Given the description of an element on the screen output the (x, y) to click on. 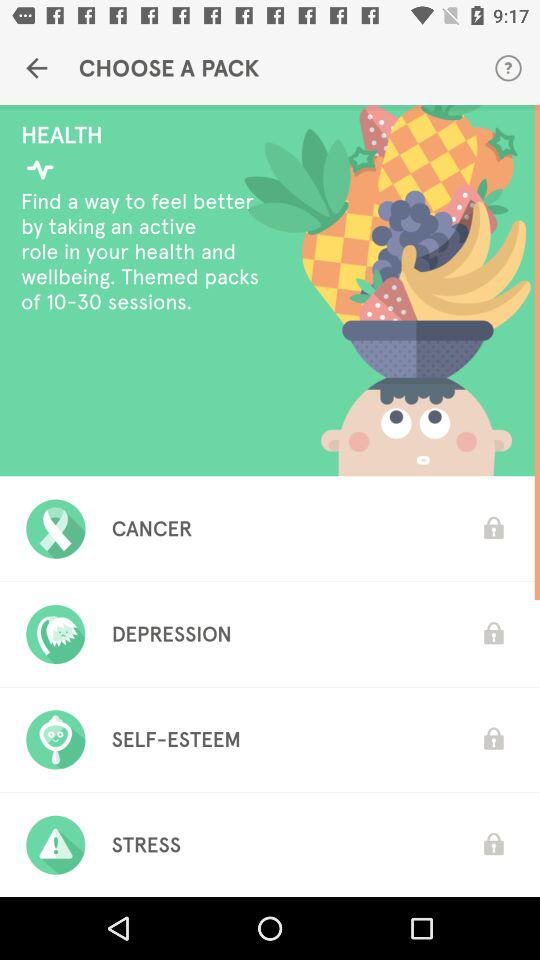
launch the icon to the left of the choose a pack (36, 68)
